Given the description of an element on the screen output the (x, y) to click on. 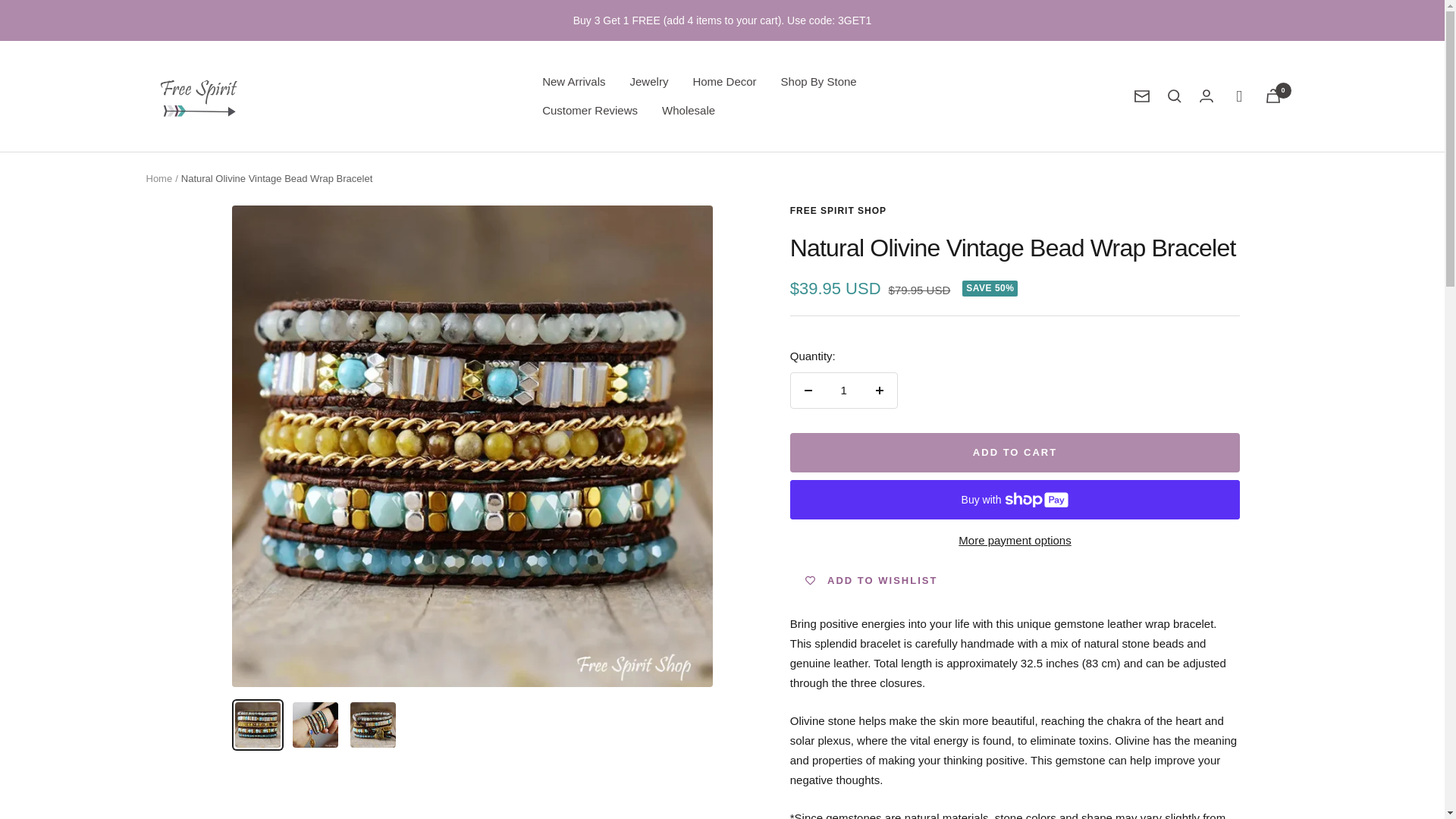
Jewelry (649, 81)
  ADD TO WISHLIST (871, 580)
New Arrivals (573, 81)
1 (843, 390)
Home (158, 178)
Wholesale (688, 110)
ADD TO CART (1015, 452)
Customer Reviews (589, 110)
Newsletter (1142, 96)
Free Spirit Shop (198, 95)
Shop By Stone (818, 81)
More payment options (1015, 540)
0 (1273, 95)
Home Decor (724, 81)
FREE SPIRIT SHOP (838, 210)
